Given the description of an element on the screen output the (x, y) to click on. 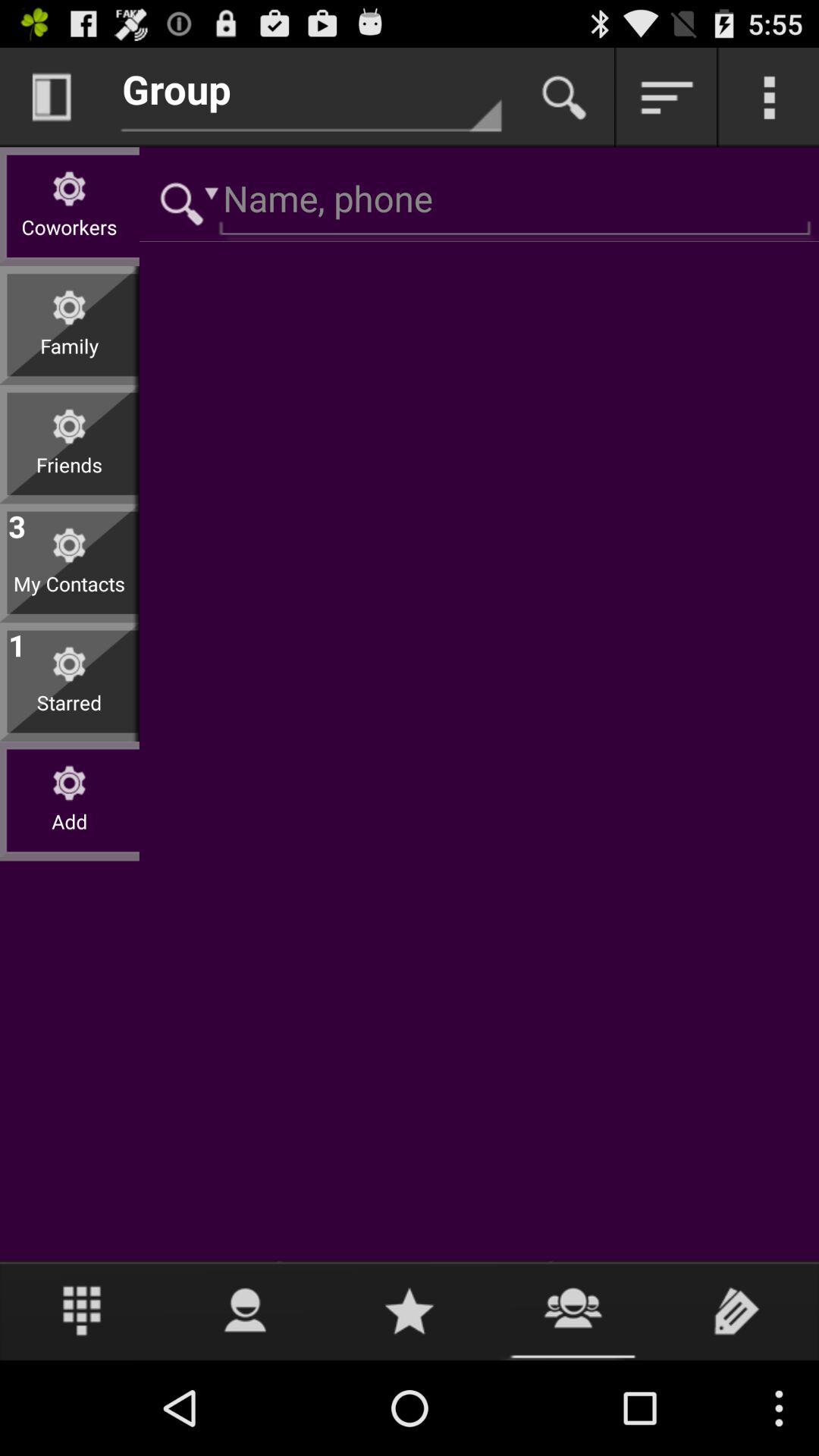
search contacts (564, 97)
